Given the description of an element on the screen output the (x, y) to click on. 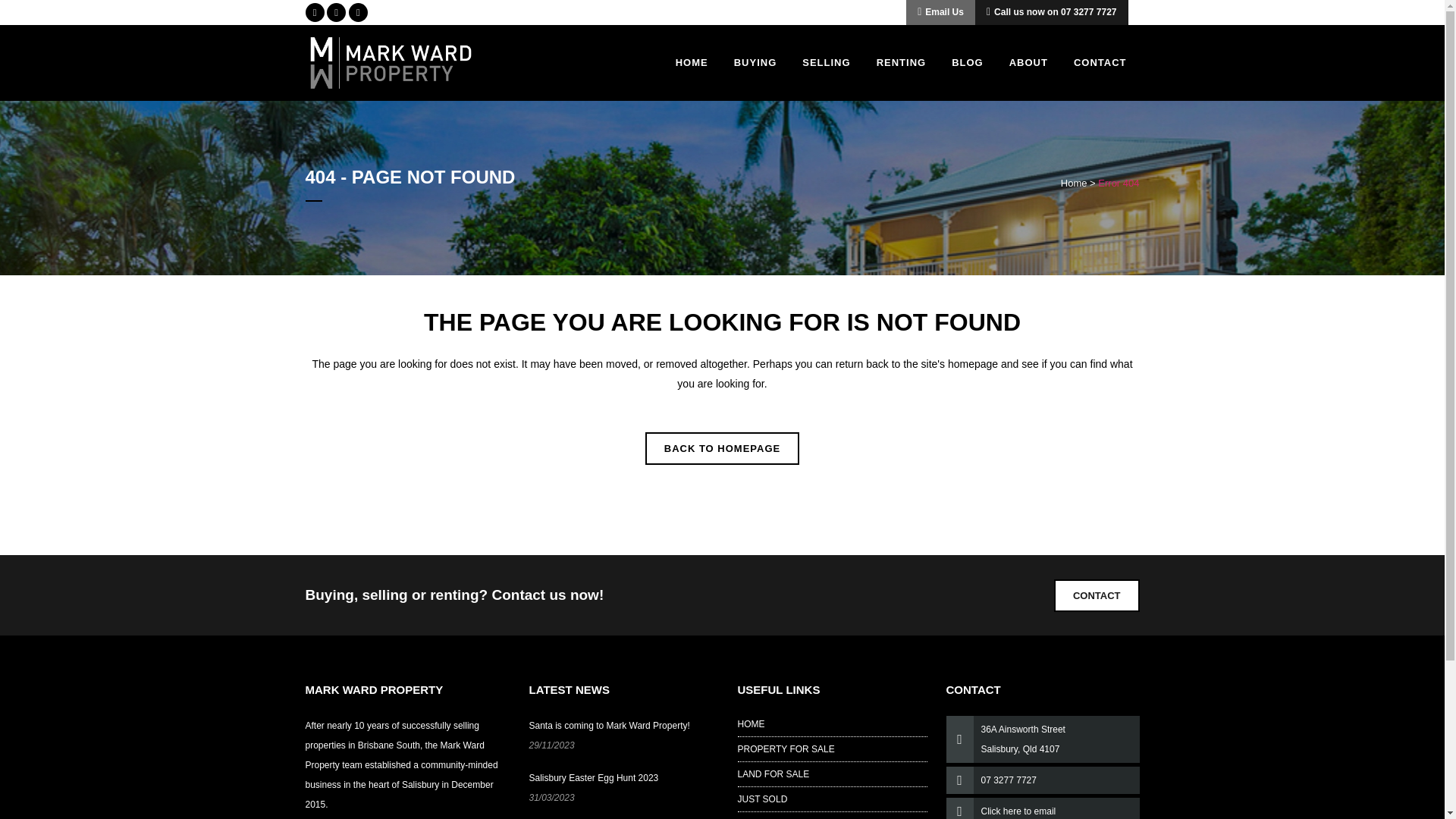
Email Us (940, 12)
Call us now on 07 3277 7727 (1051, 12)
CONTACT (1100, 62)
SELLING (826, 62)
BUYING (755, 62)
RENTING (901, 62)
